Given the description of an element on the screen output the (x, y) to click on. 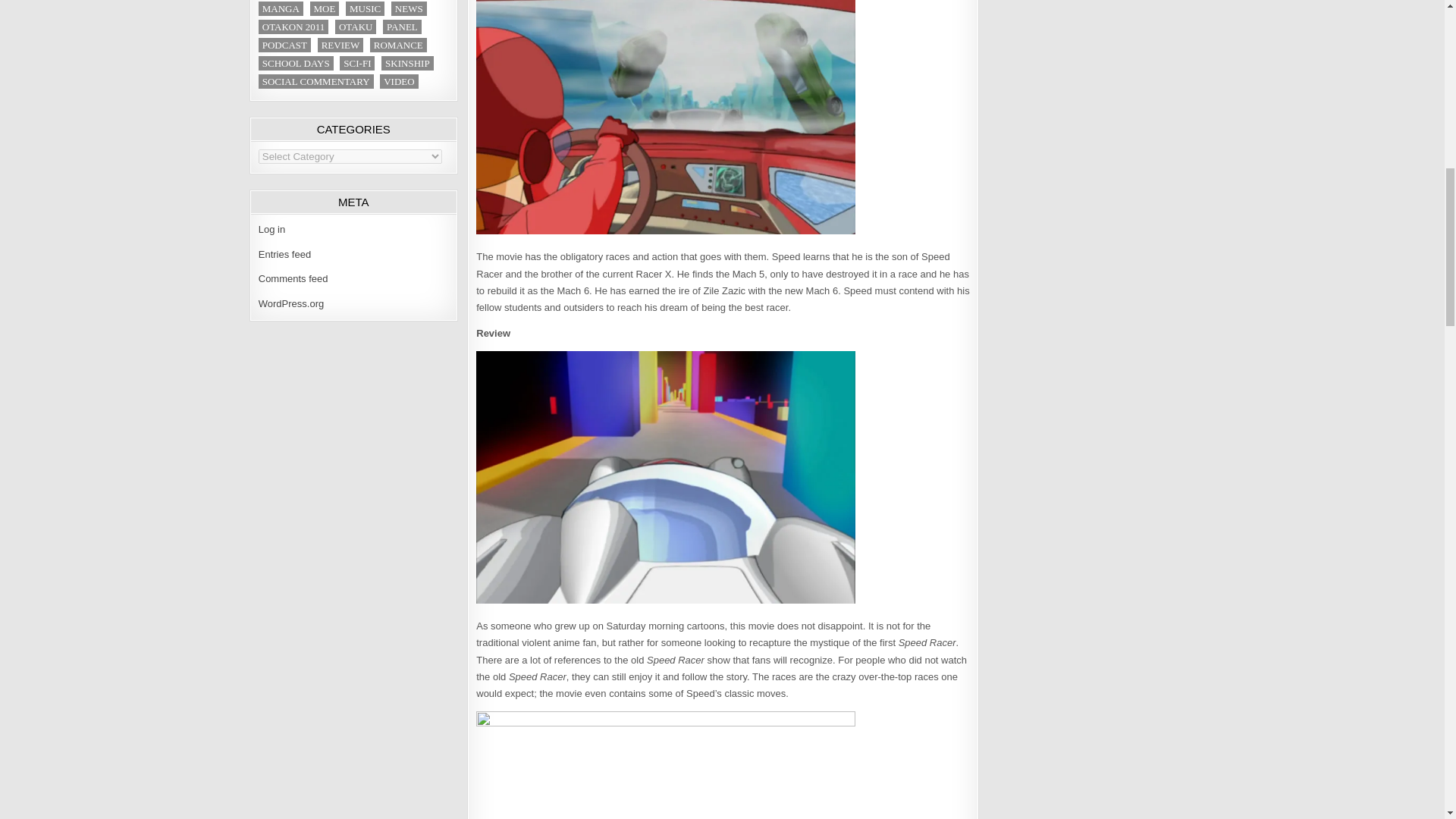
shark-cars (666, 765)
flipping-cars (666, 117)
virtualtrack (666, 477)
